Given the description of an element on the screen output the (x, y) to click on. 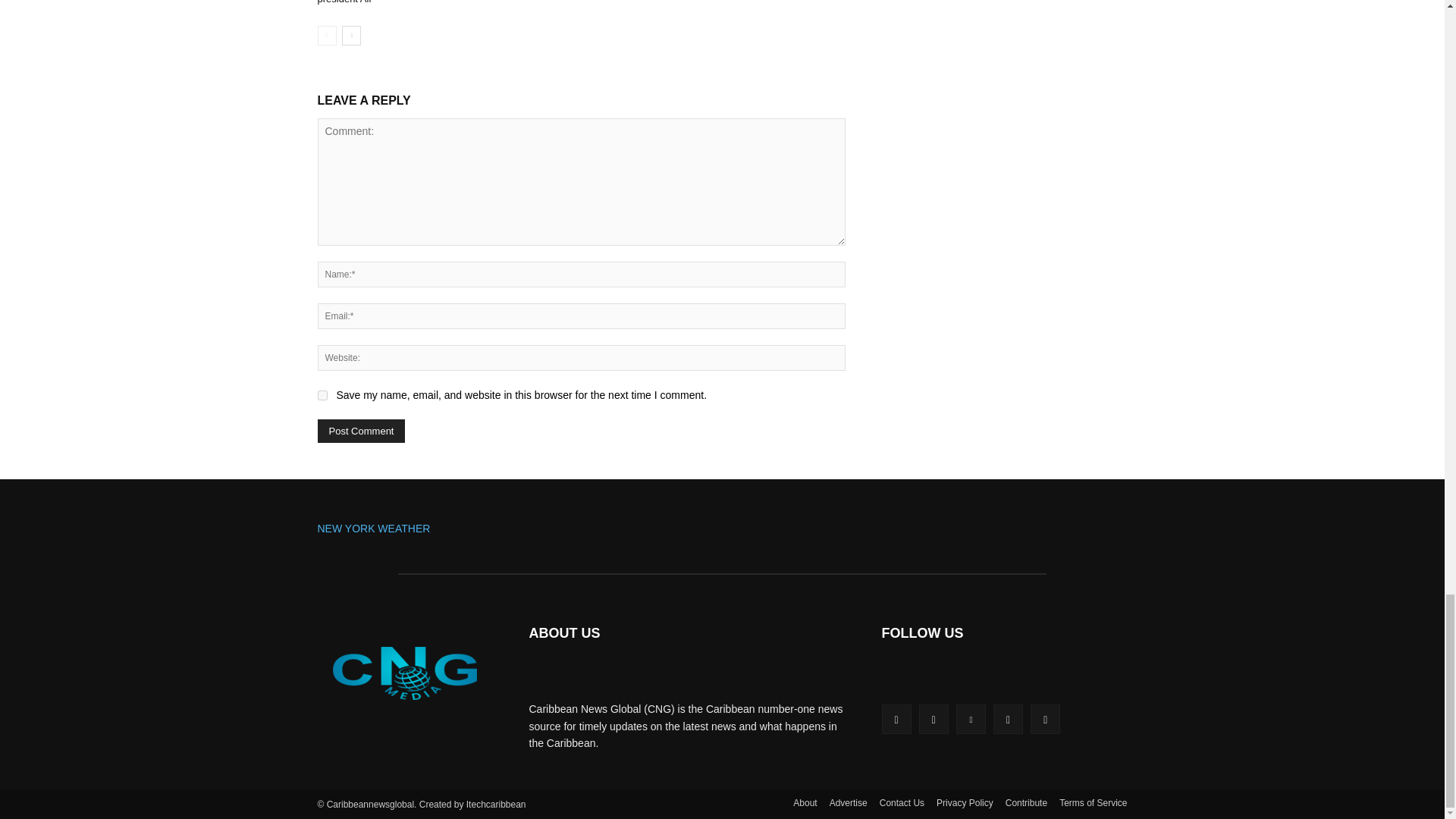
yes (321, 395)
Post Comment (360, 431)
